Given the description of an element on the screen output the (x, y) to click on. 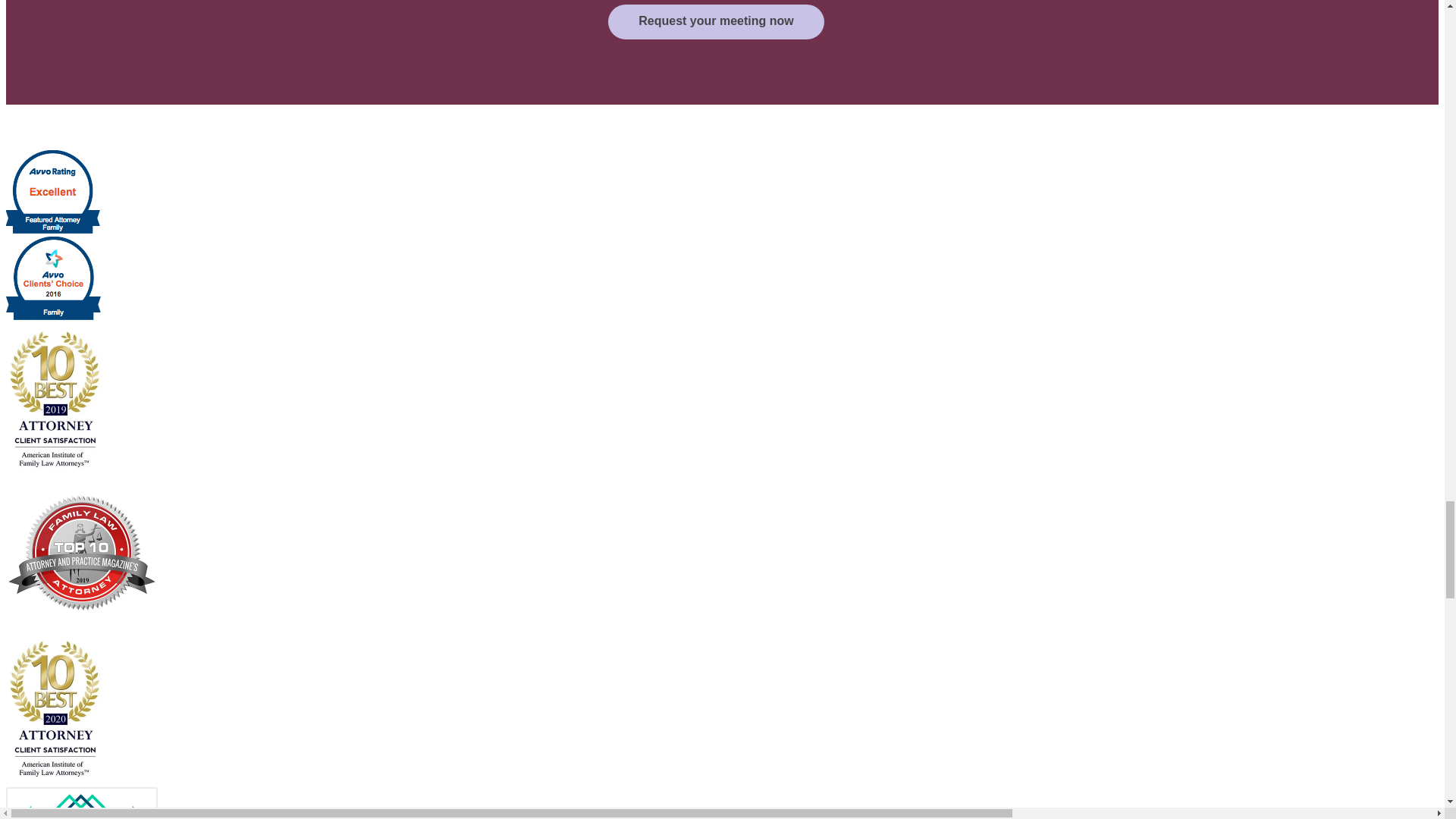
Request your meeting now (716, 21)
